Given the description of an element on the screen output the (x, y) to click on. 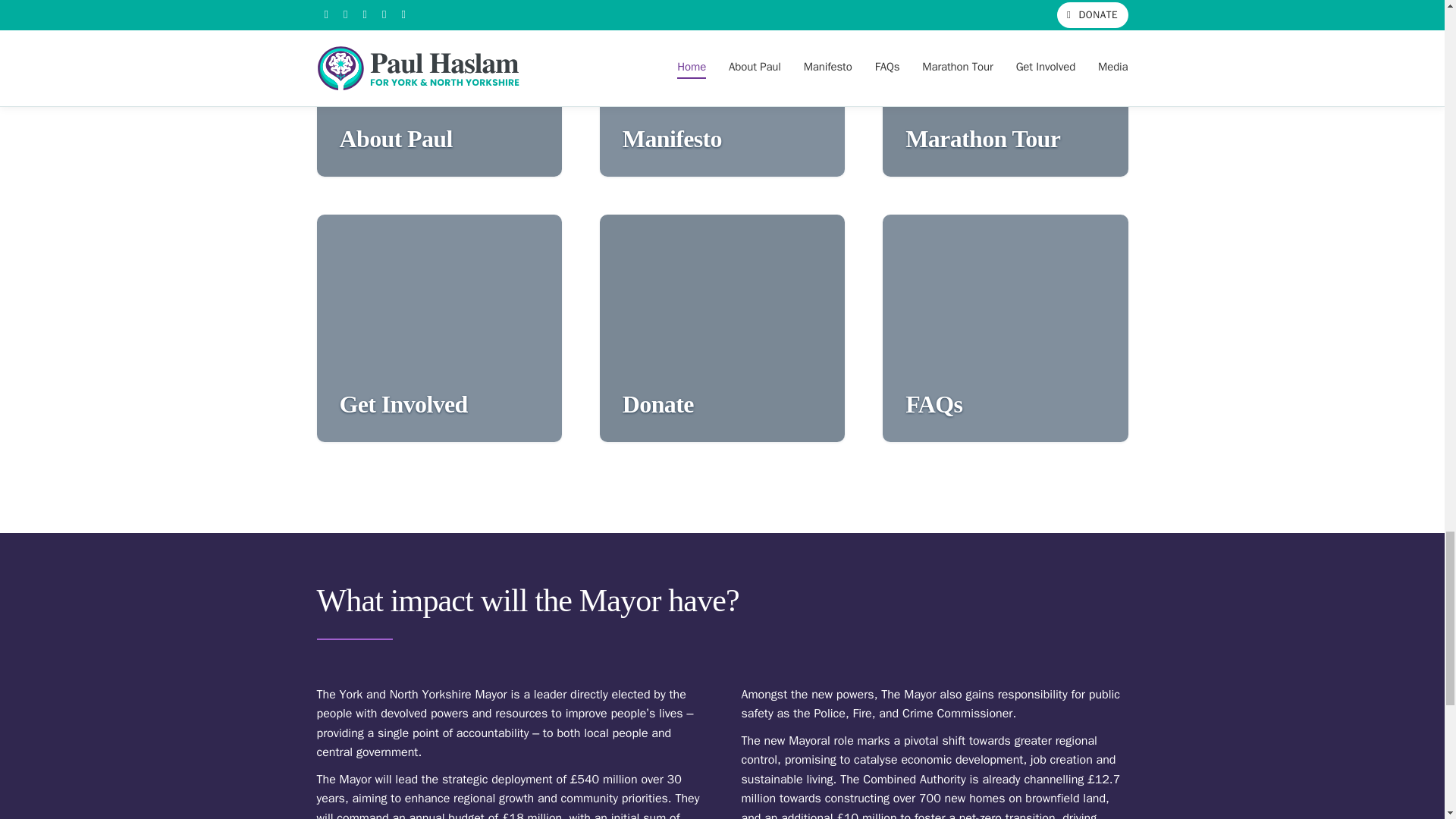
Marathon Tour (1004, 88)
Manifesto (721, 88)
FAQs (1004, 328)
About Paul (439, 88)
Donate (721, 328)
Get Involved (439, 328)
